Given the description of an element on the screen output the (x, y) to click on. 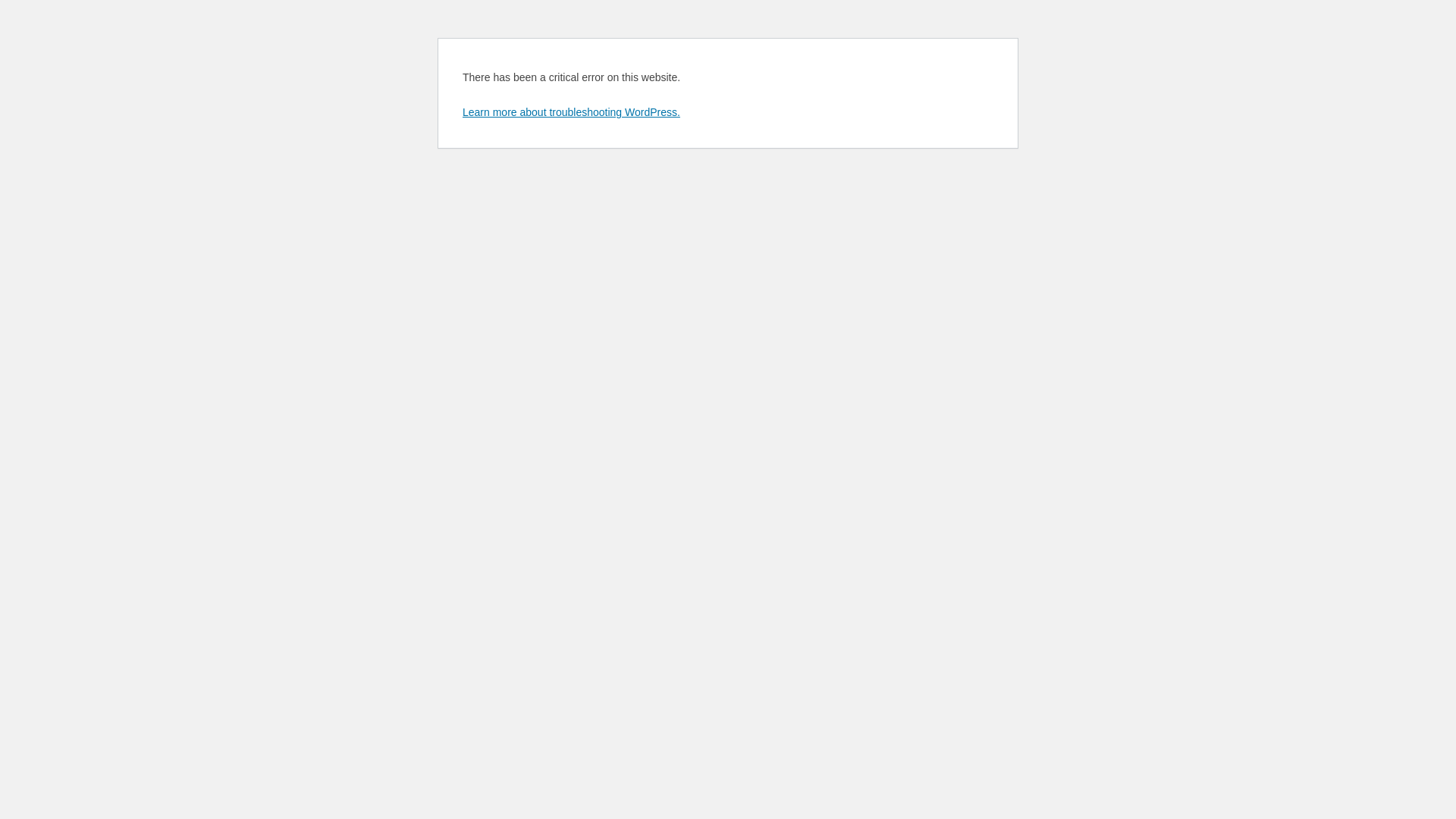
Learn more about troubleshooting WordPress. Element type: text (571, 112)
